Given the description of an element on the screen output the (x, y) to click on. 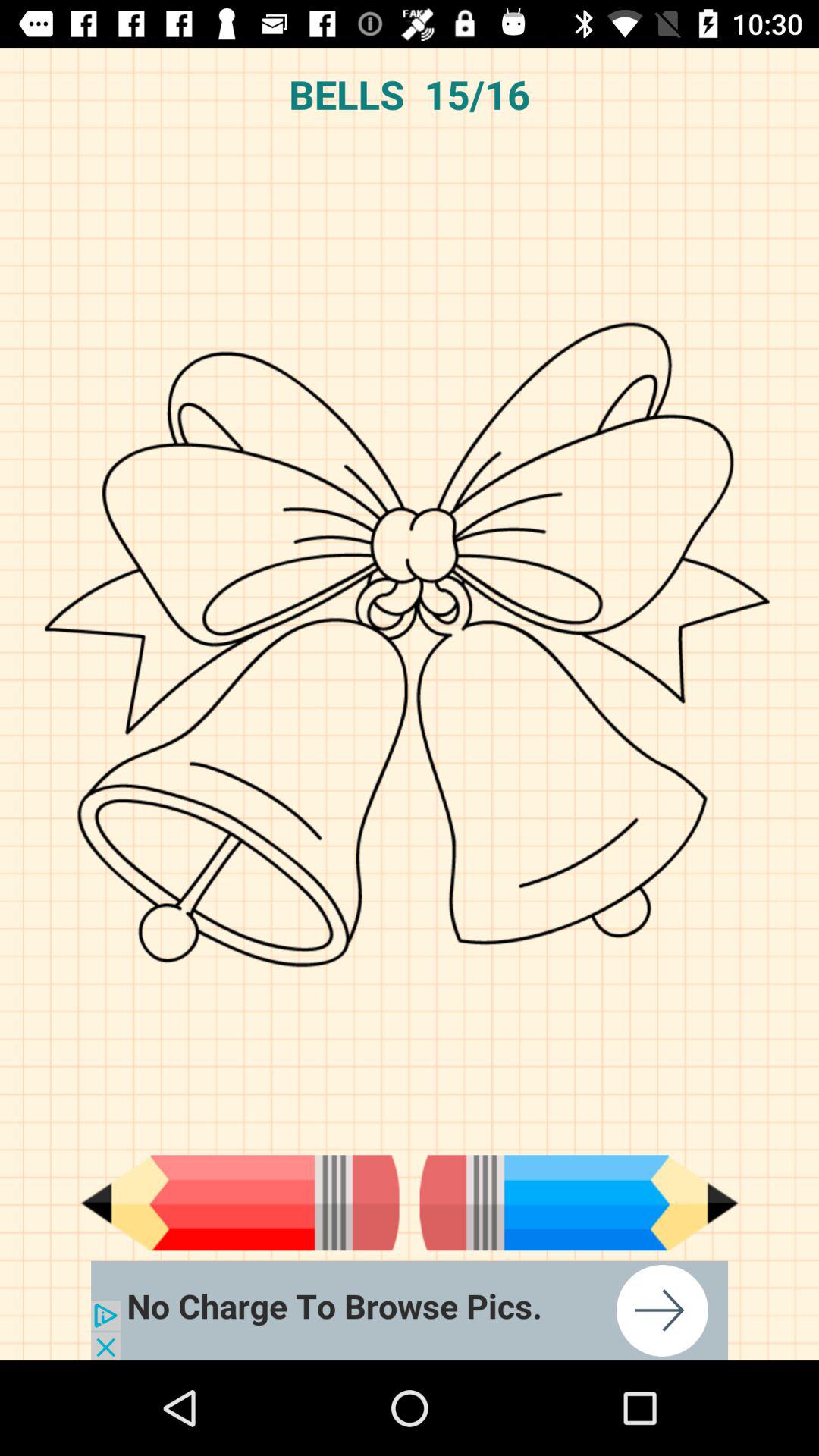
pen (239, 1202)
